Given the description of an element on the screen output the (x, y) to click on. 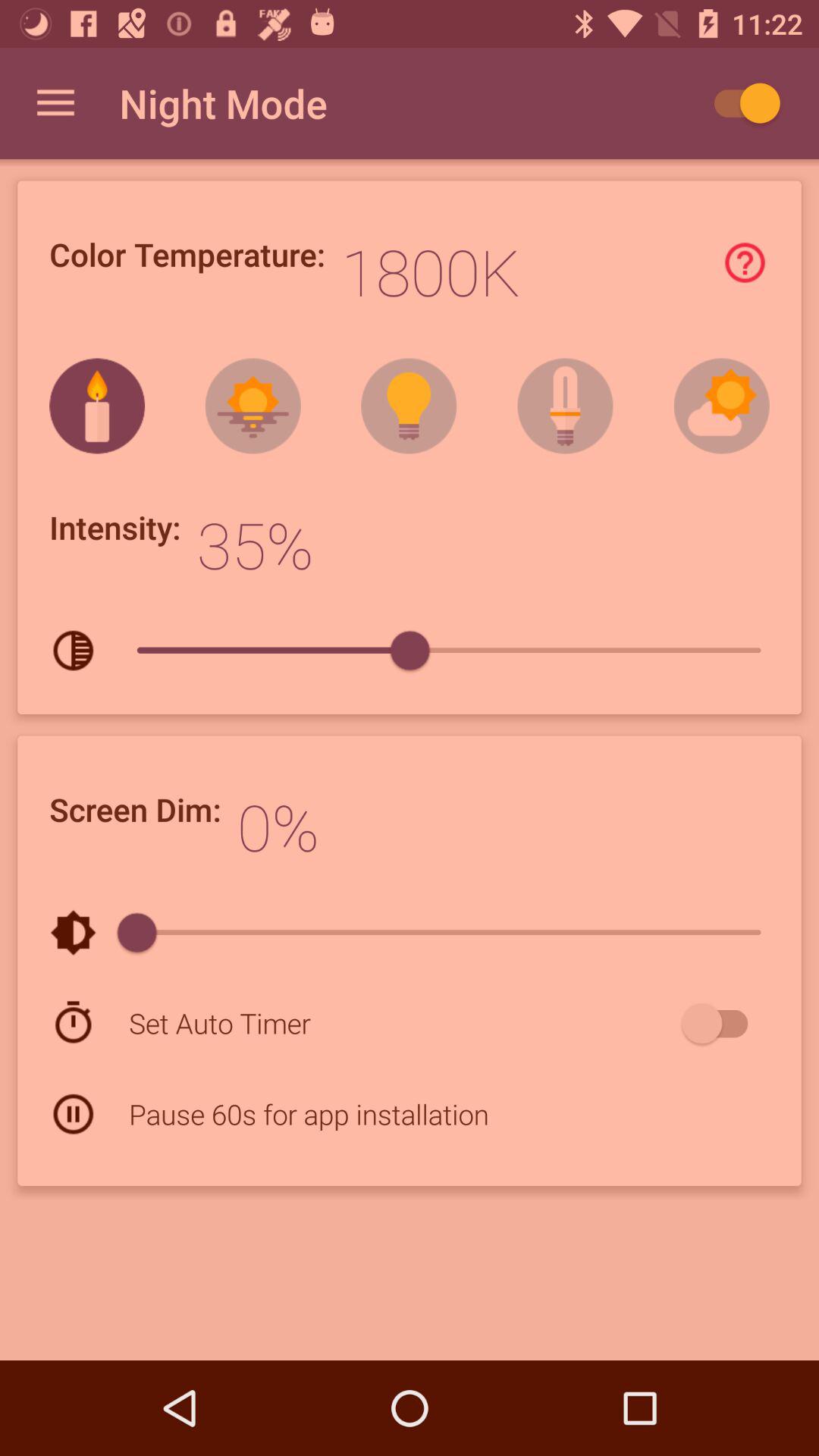
press set auto timer icon (402, 1022)
